Given the description of an element on the screen output the (x, y) to click on. 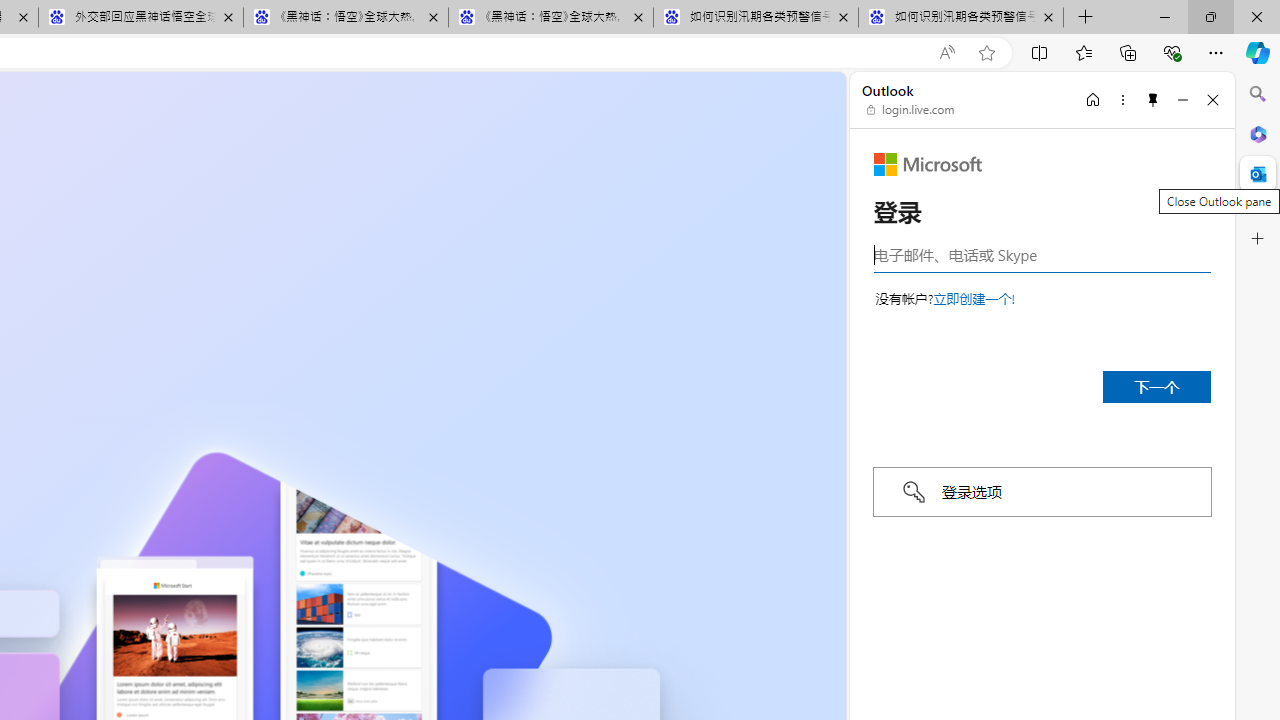
Unpin side pane (1153, 99)
login.live.com (911, 110)
